Given the description of an element on the screen output the (x, y) to click on. 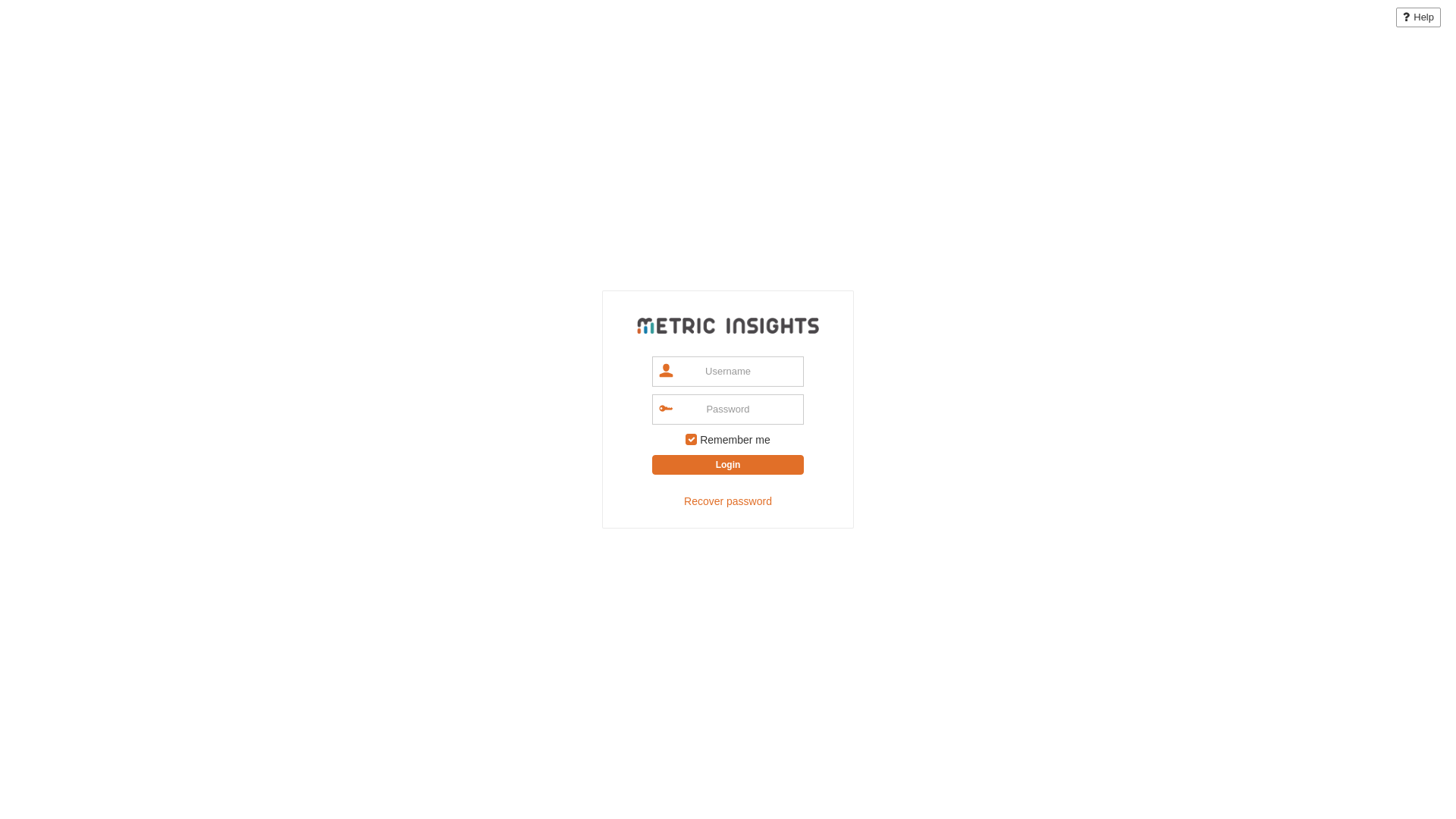
Recover password Element type: text (727, 501)
Login Element type: text (727, 464)
Help Element type: text (1418, 17)
